Given the description of an element on the screen output the (x, y) to click on. 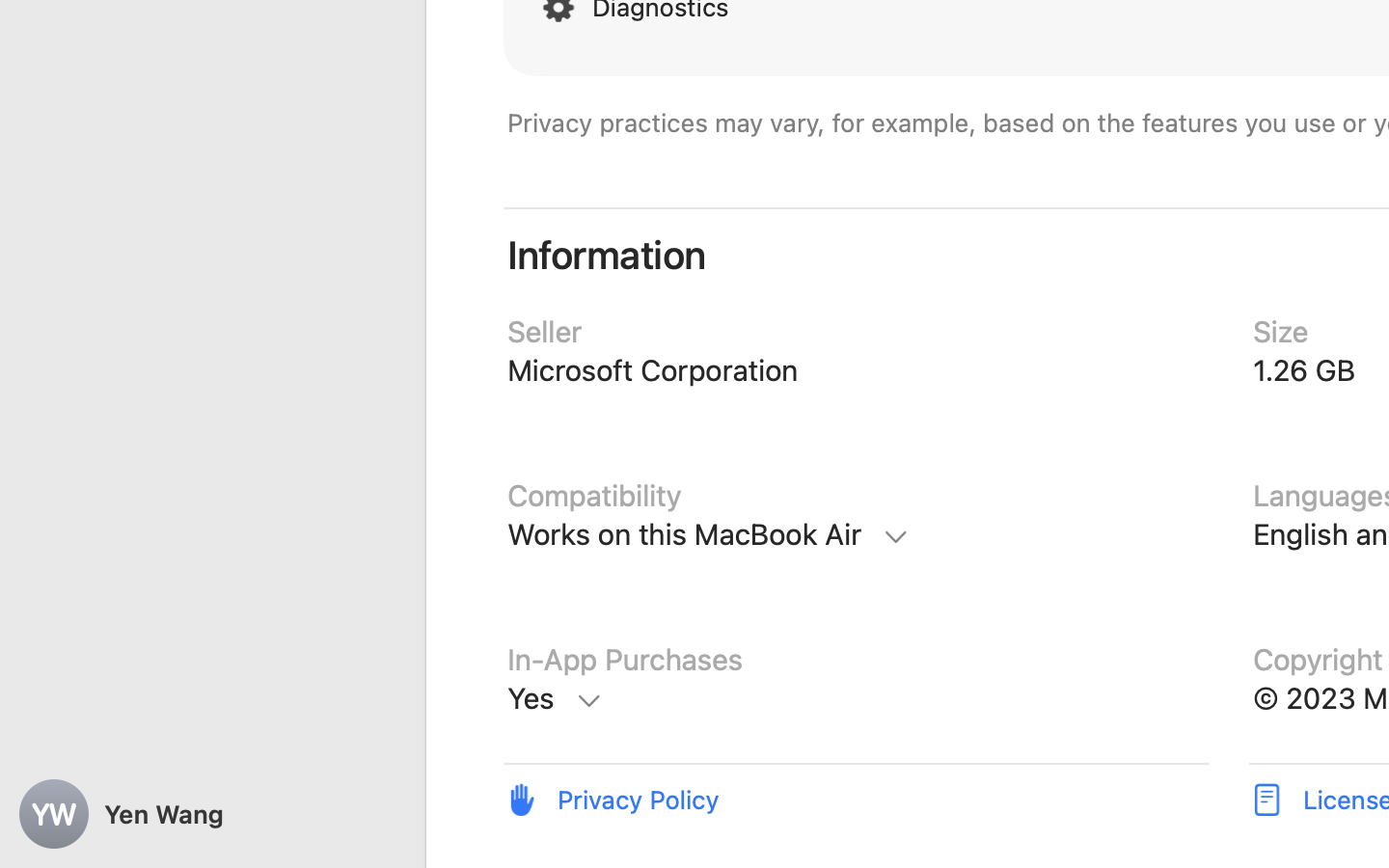
Seller, Microsoft Corporation Element type: AXStaticText (856, 371)
Yen Wang Element type: AXButton (212, 813)
Compatibility, Mac, Requires macOS 12.0 or later Element type: AXStaticText (856, 534)
In-App Purchases, Microsoft 365 Personal, $69.99, Microsoft 365 Personal Monthly, $6.99, Microsoft 365 Family, $99.99, Microsoft 365 Family, $9.99, Microsoft Copilot Pro, $20.00, Microsoft 365 Personal, $119.99, Learn More Element type: AXStaticText (856, 698)
